Given the description of an element on the screen output the (x, y) to click on. 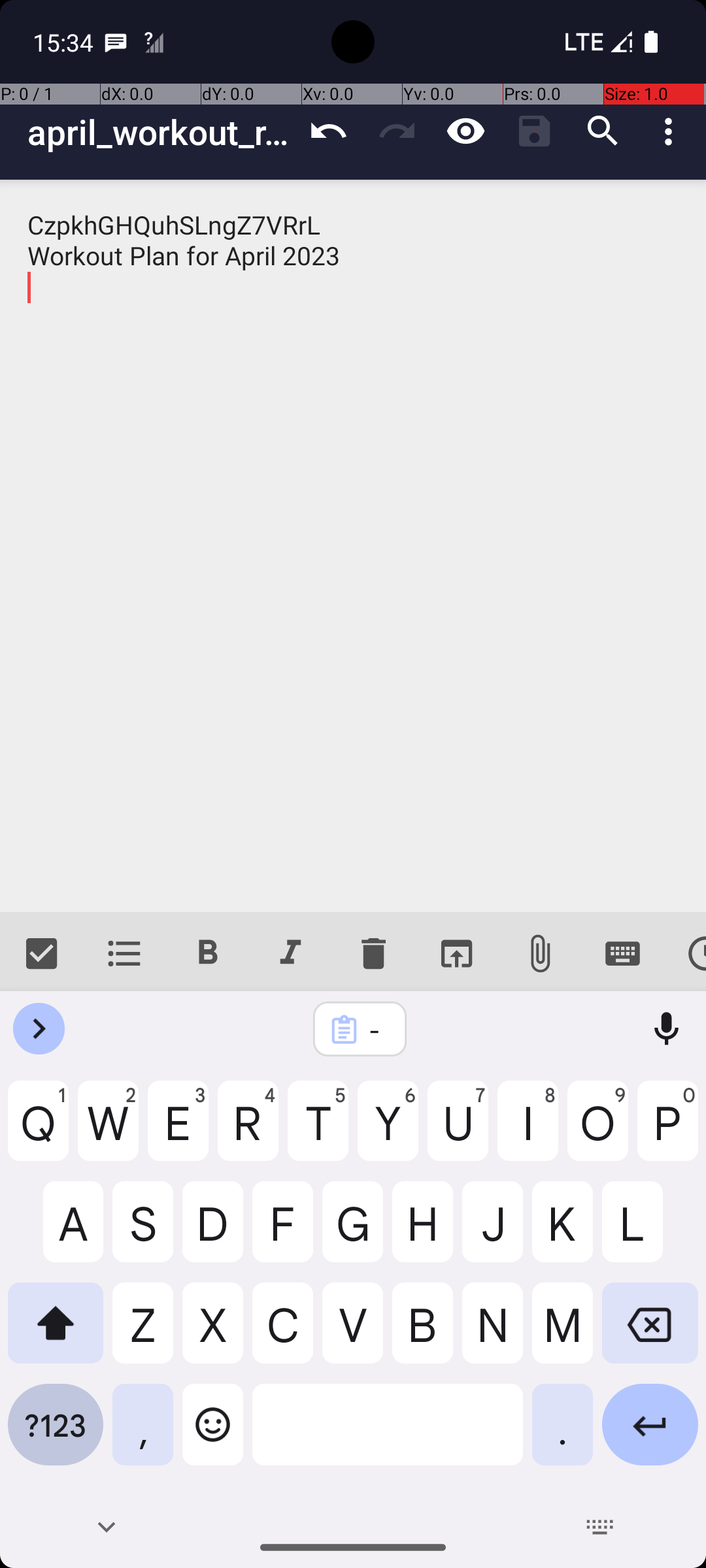
april_workout_routine_2023_01_01 Element type: android.widget.TextView (160, 131)
CzpkhGHQuhSLngZ7VRrL
Workout Plan for April 2023
 Element type: android.widget.EditText (353, 545)
-  Element type: android.widget.TextView (376, 1029)
